Given the description of an element on the screen output the (x, y) to click on. 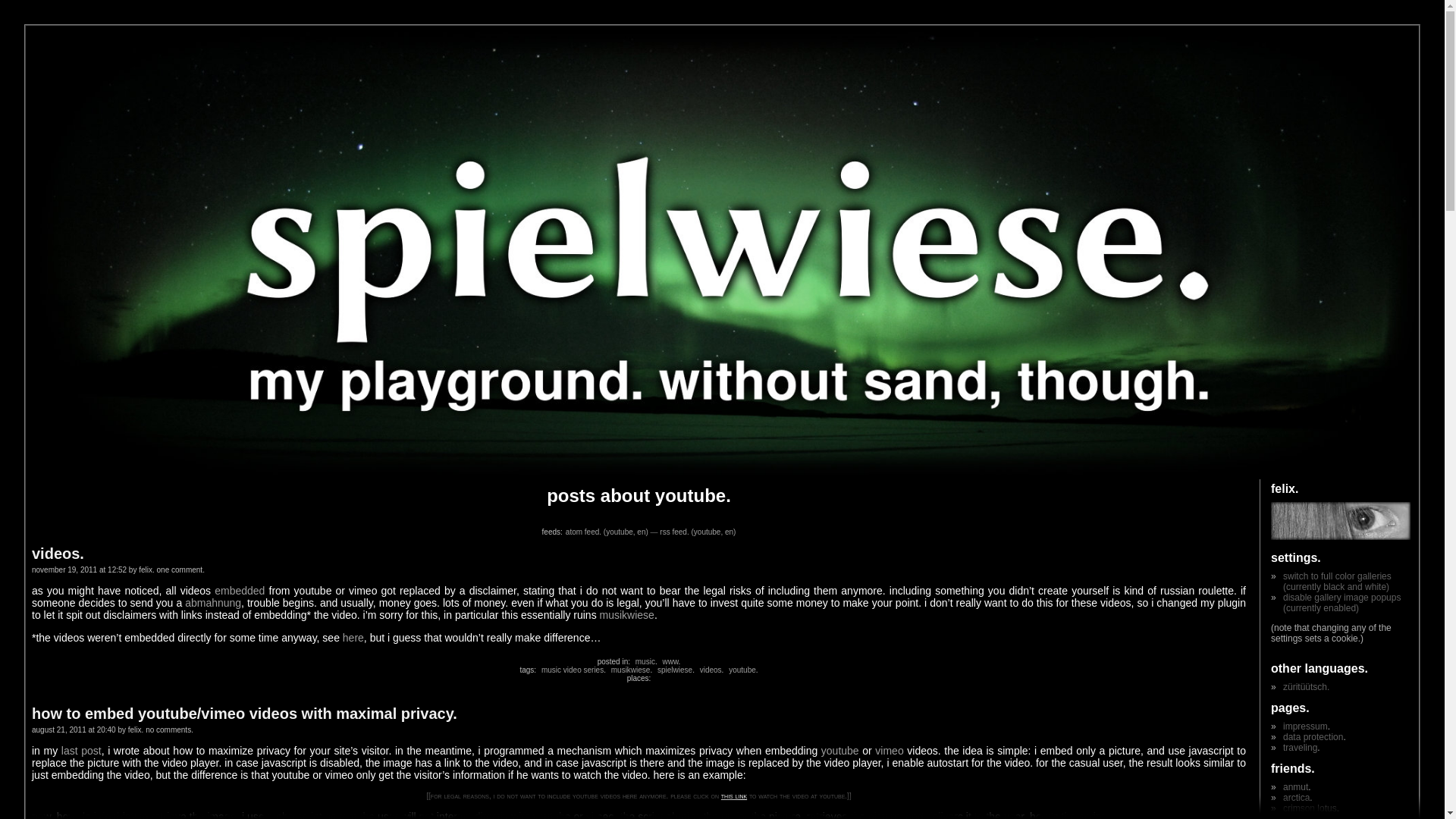
videos (709, 669)
last post (81, 750)
spielwiese (673, 669)
youtube (740, 669)
musikwiese (629, 669)
embedded (239, 590)
www (668, 661)
youtube (840, 750)
music (643, 661)
musikwiese (626, 614)
abmahnung (212, 603)
videos. (58, 553)
vimeo (888, 750)
here (353, 637)
this link (733, 795)
